Given the description of an element on the screen output the (x, y) to click on. 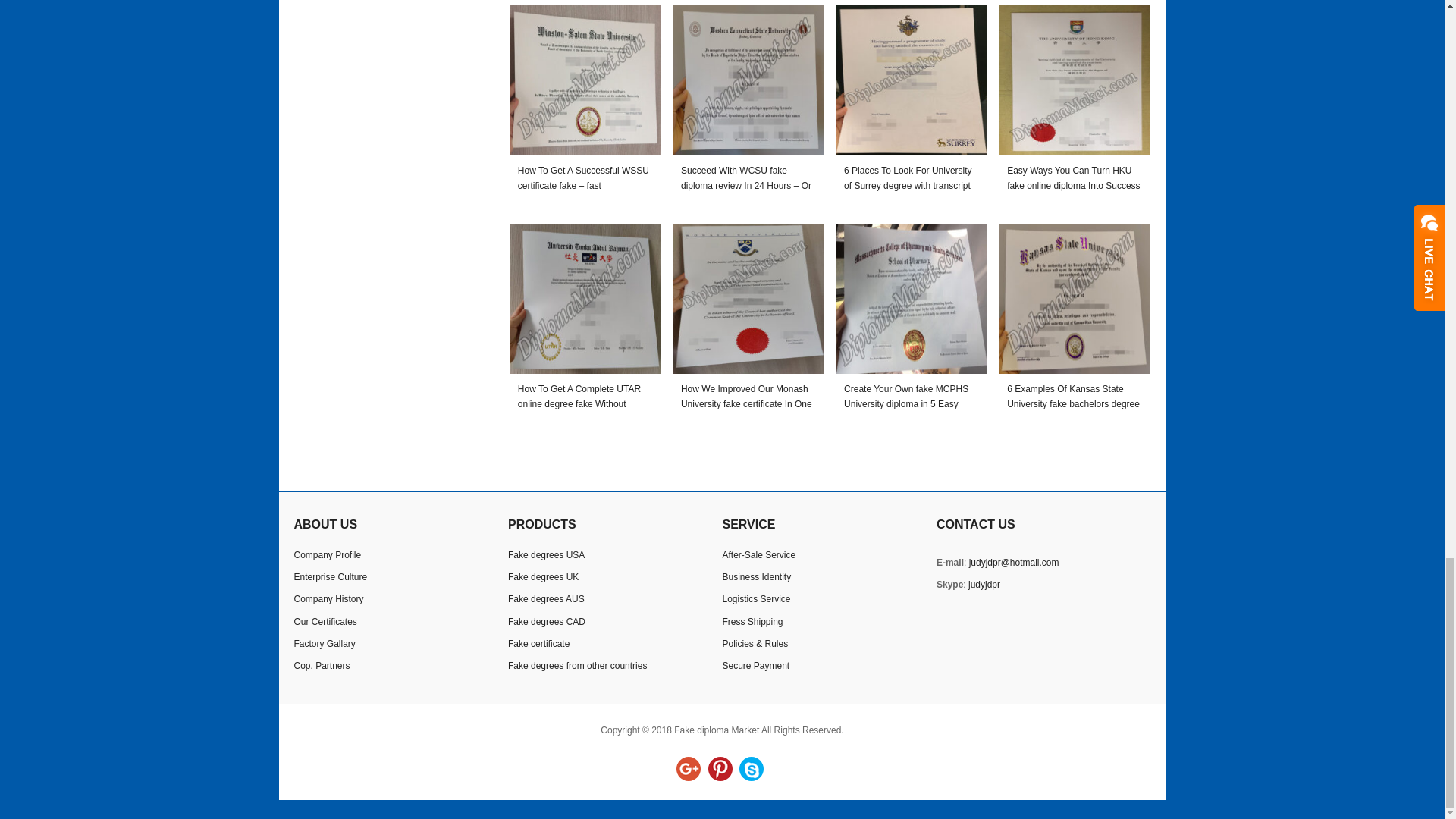
6 Examples Of Kansas State University fake bachelors degree (1074, 298)
Easy Ways You Can Turn HKU fake online diploma Into Success (1074, 79)
How To Get A Successful WSSU certificate fake - fast (586, 79)
